Given the description of an element on the screen output the (x, y) to click on. 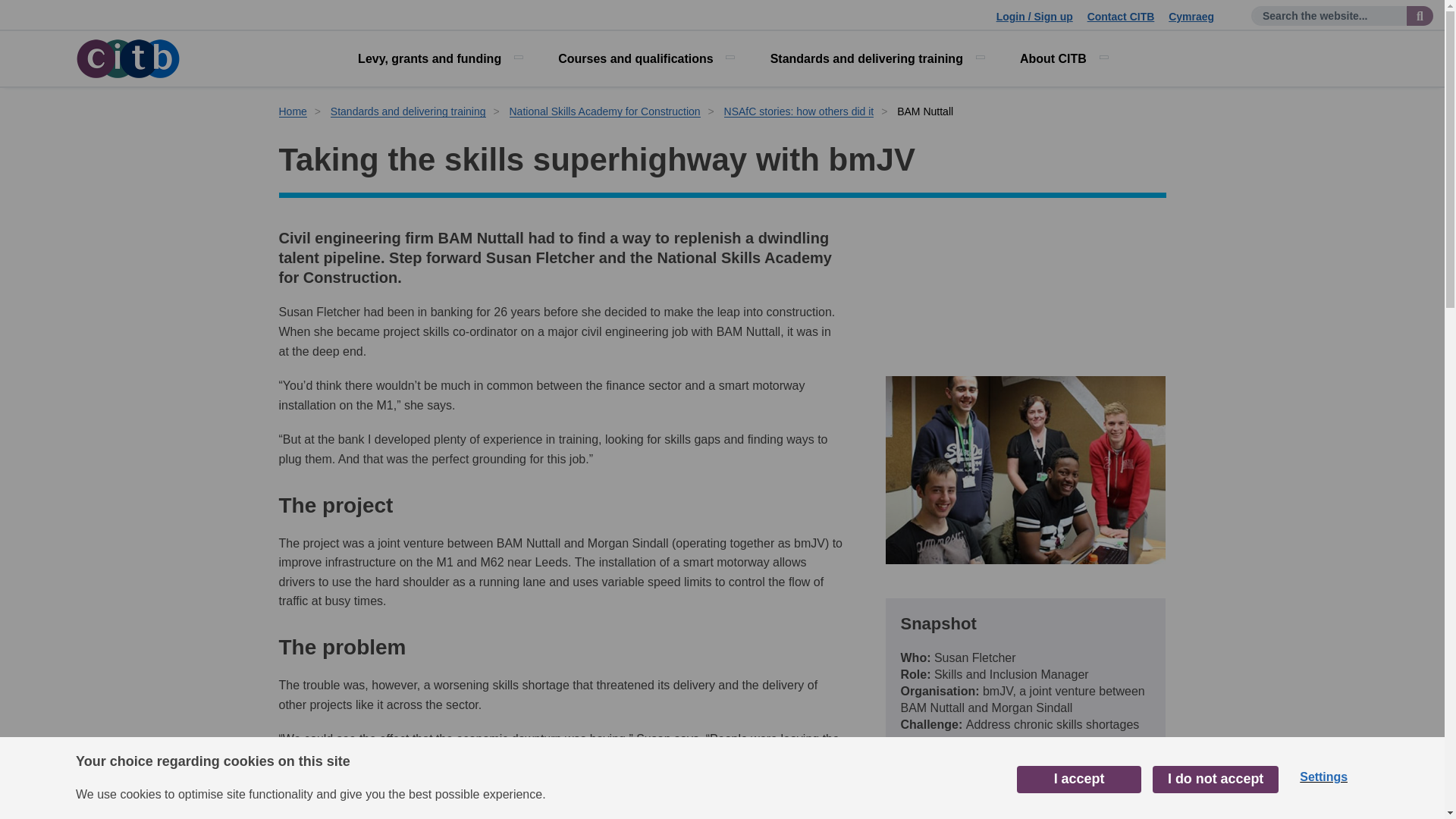
Cymraeg (1191, 16)
i do not accept (1215, 806)
Contact CITB (1120, 16)
Search the website... (1419, 15)
i accept (1078, 812)
Settings (1323, 801)
Levy, grants and funding (438, 58)
Courses and qualifications (644, 58)
